Given the description of an element on the screen output the (x, y) to click on. 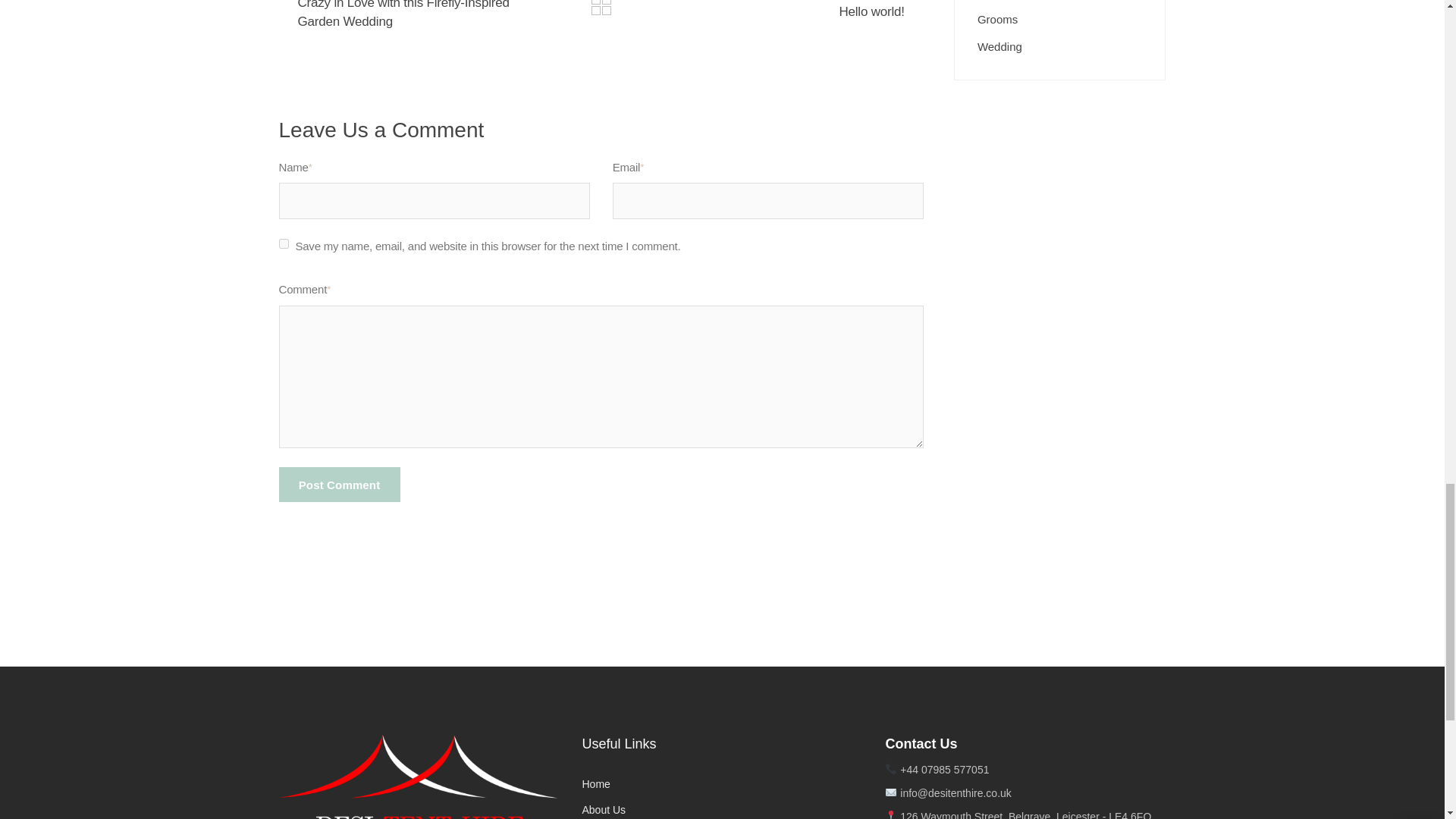
yes (283, 243)
Post Comment (339, 484)
Post Comment (339, 484)
